Given the description of an element on the screen output the (x, y) to click on. 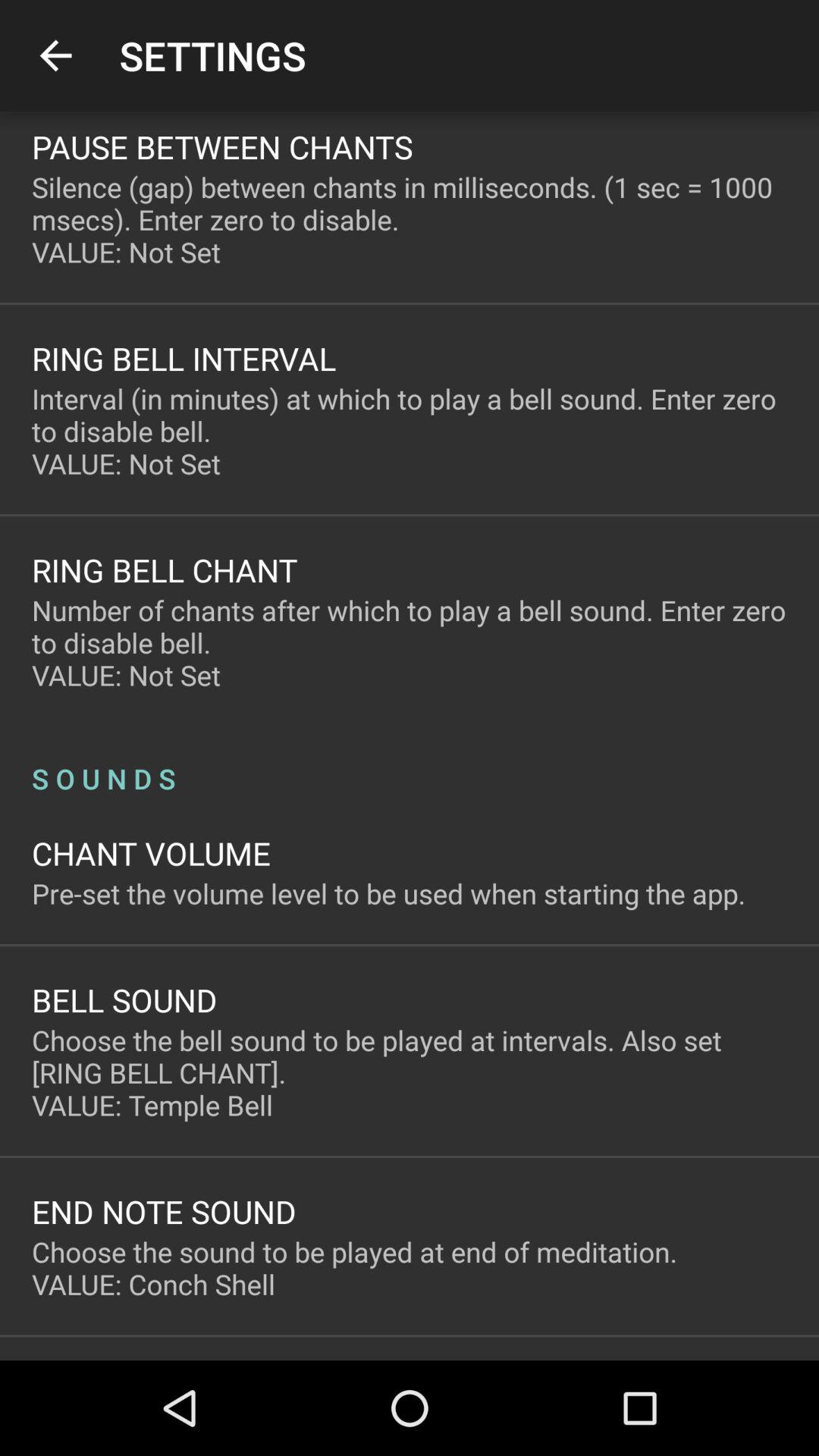
choose item above the pre set the (150, 852)
